Given the description of an element on the screen output the (x, y) to click on. 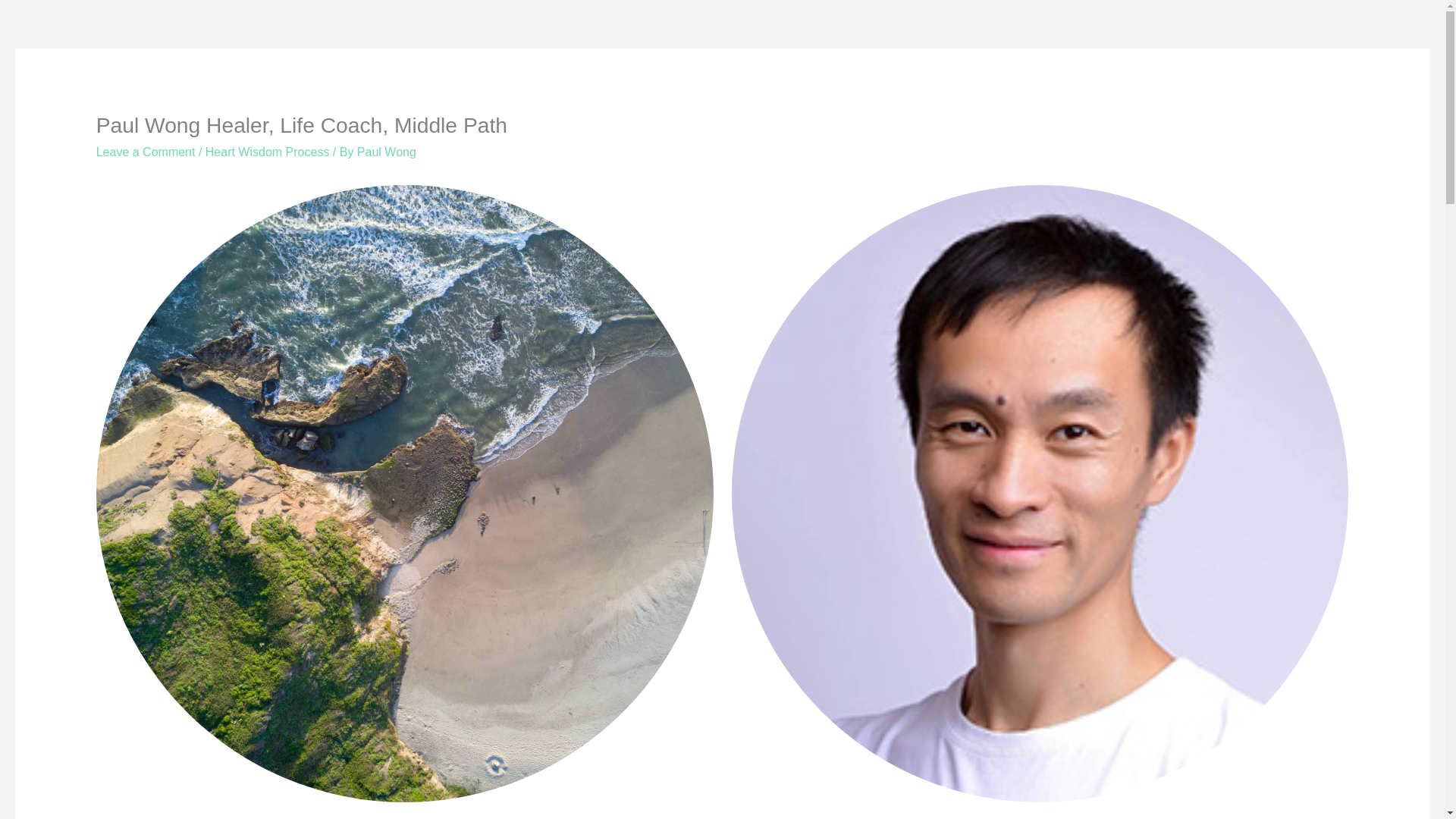
View all posts by Paul Wong (386, 151)
Paul Wong (386, 151)
Heart Wisdom Process (267, 151)
Leave a Comment (145, 151)
